Given the description of an element on the screen output the (x, y) to click on. 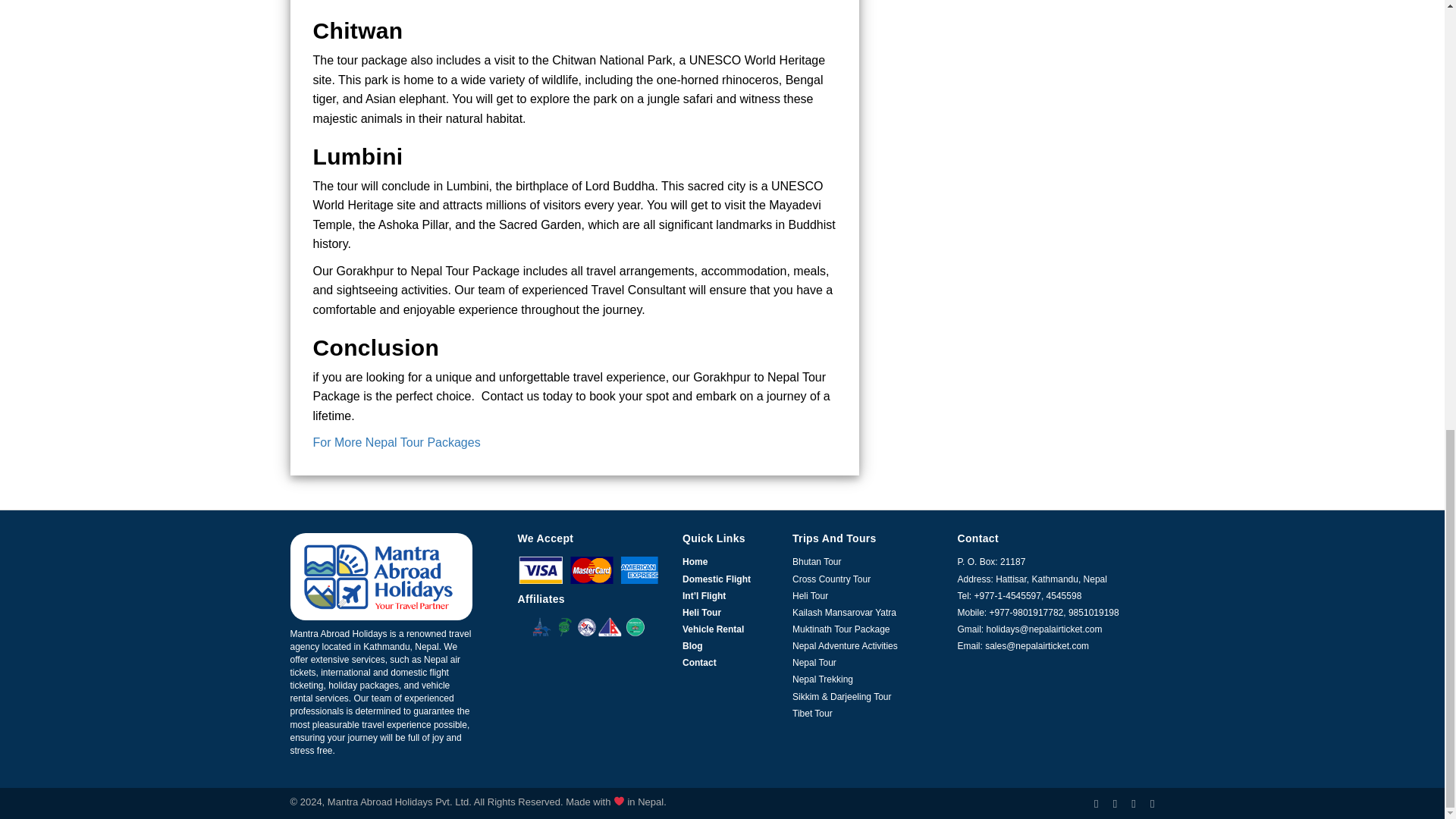
For More Nepal Tour Packages  (398, 441)
